Given the description of an element on the screen output the (x, y) to click on. 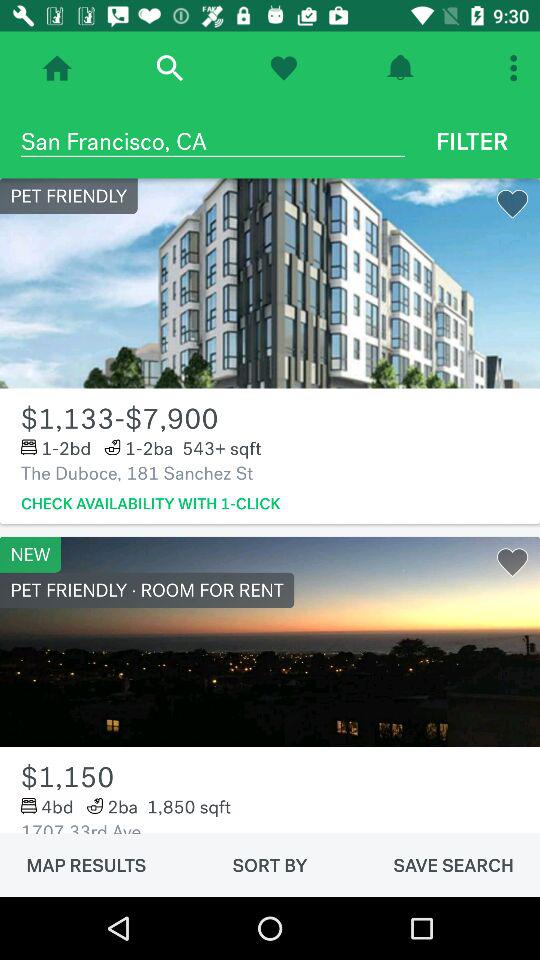
jump until the map results (85, 865)
